Given the description of an element on the screen output the (x, y) to click on. 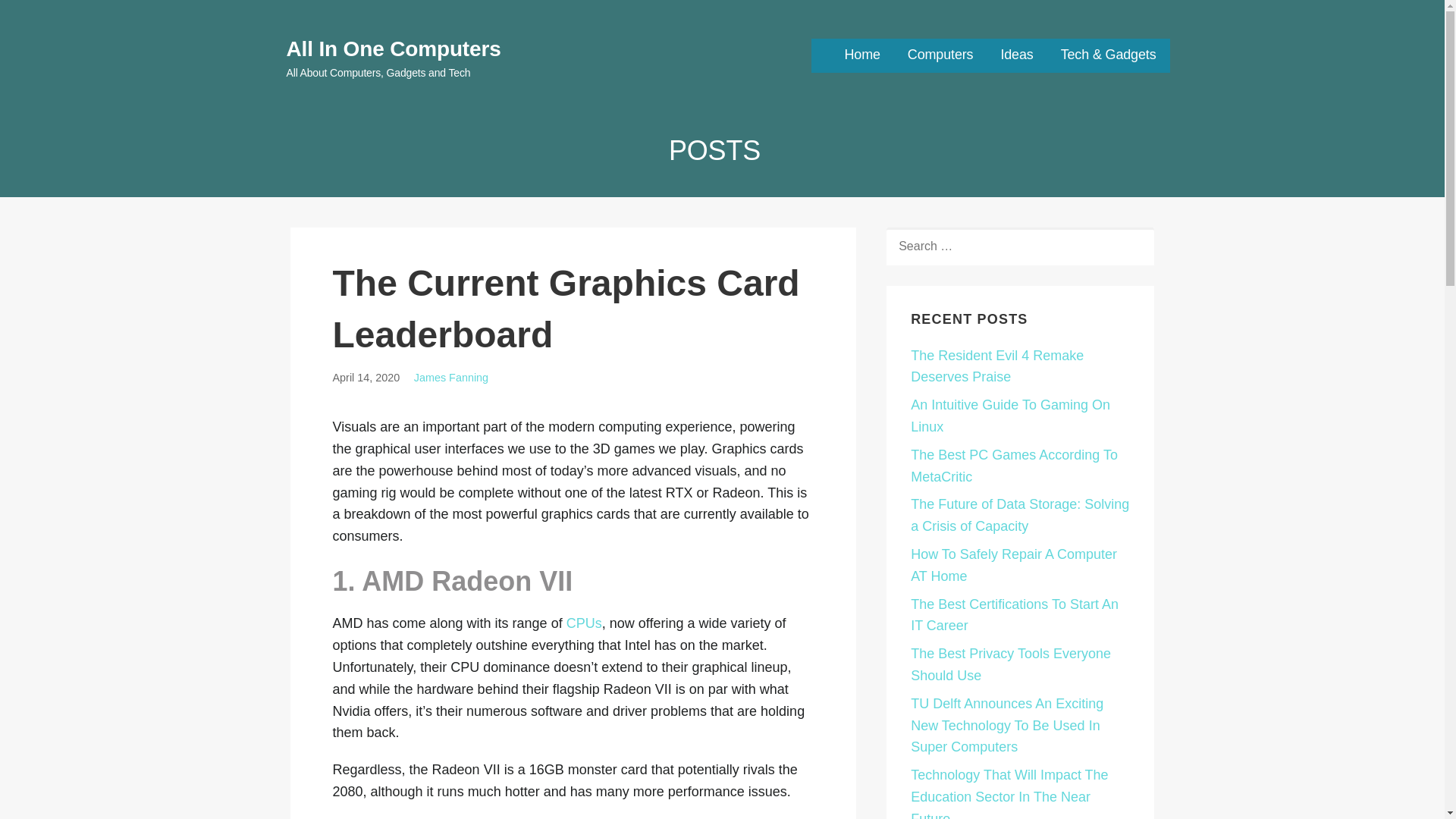
Posts by James Fanning (450, 377)
The Best Privacy Tools Everyone Should Use (1010, 664)
Search (47, 17)
An Intuitive Guide To Gaming On Linux (1010, 415)
The Best PC Games According To MetaCritic (1014, 465)
The Resident Evil 4 Remake Deserves Praise (997, 366)
James Fanning (450, 377)
Computers (940, 55)
CPUs (584, 622)
